Given the description of an element on the screen output the (x, y) to click on. 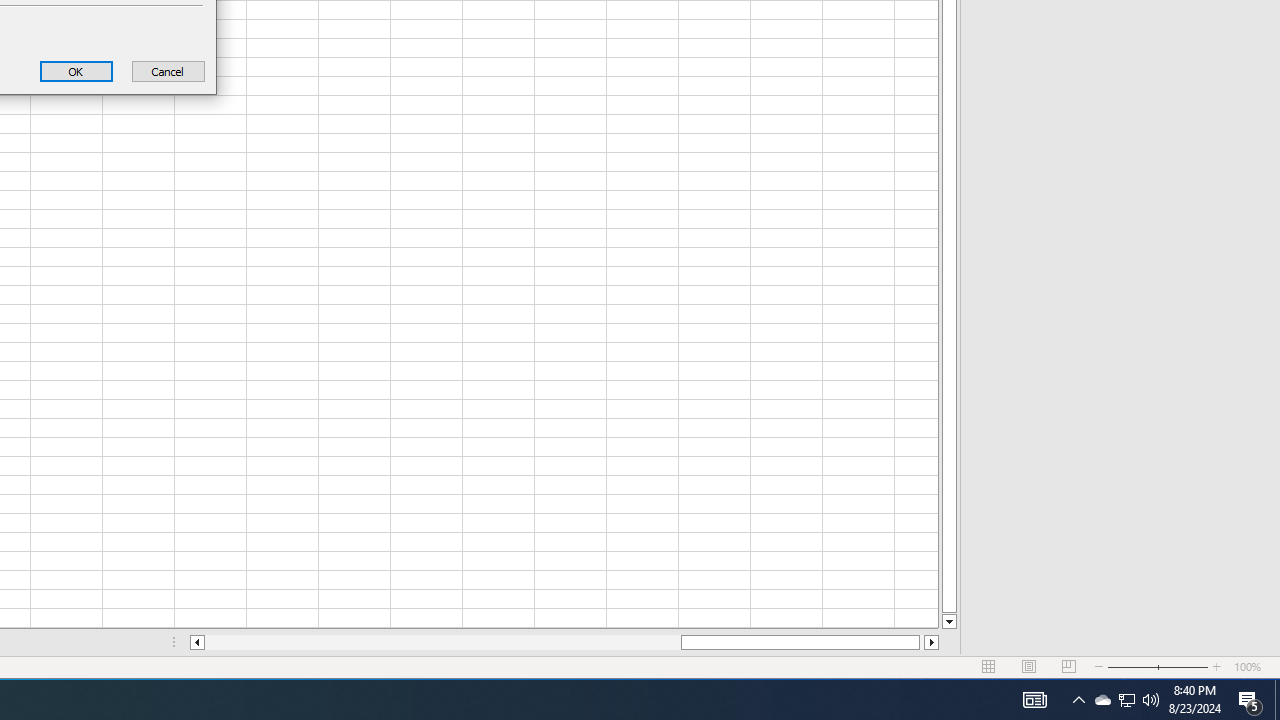
Q2790: 100% (1151, 699)
Page left (442, 642)
Show desktop (1277, 699)
Cancel (168, 70)
User Promoted Notification Area (1126, 699)
OK (1126, 699)
Action Center, 5 new notifications (75, 70)
